Given the description of an element on the screen output the (x, y) to click on. 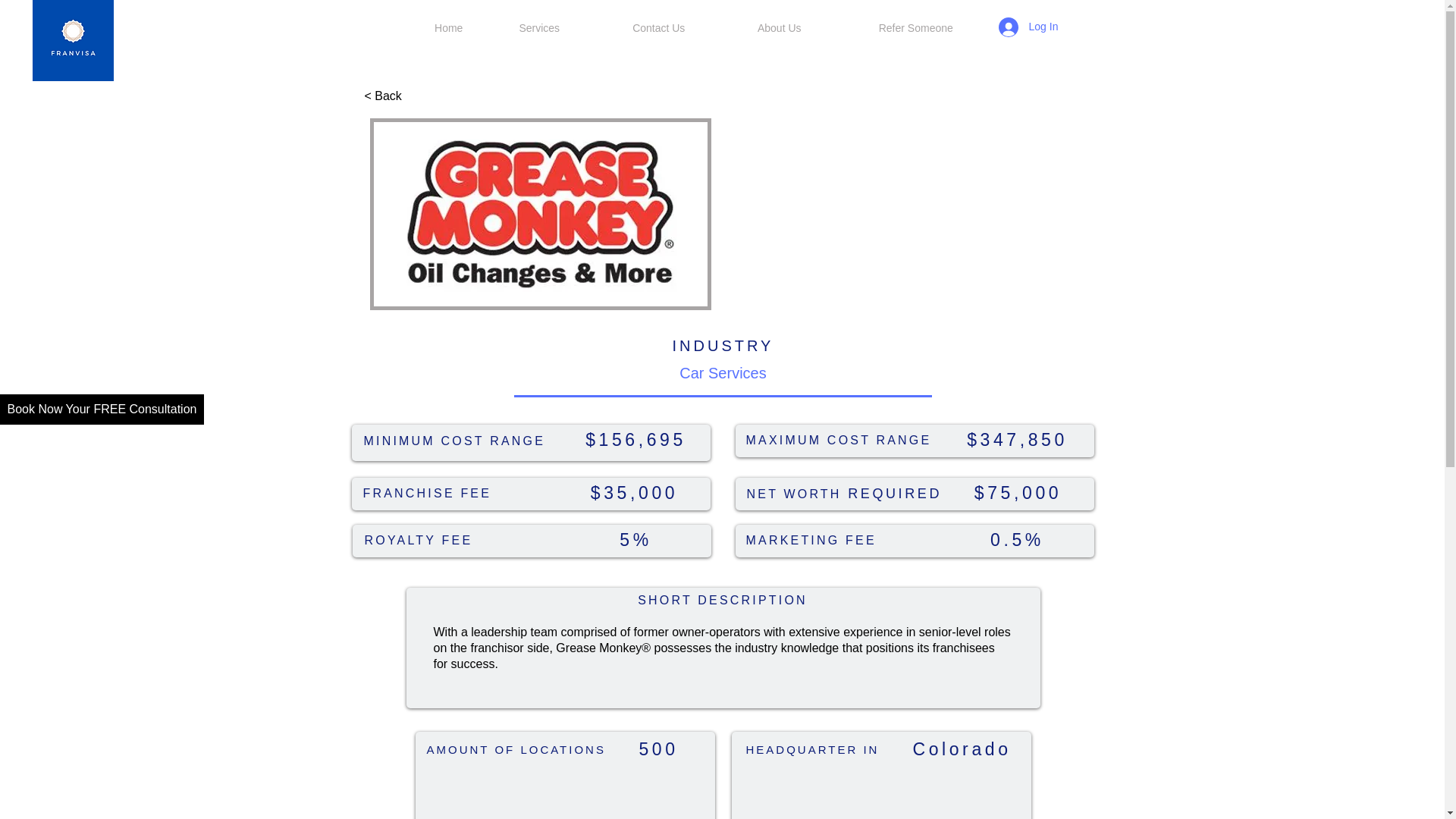
Services (538, 27)
Refer Someone (915, 27)
Contact Us (657, 27)
Home (448, 27)
Book Now Your FREE Consultation (101, 409)
About Us (778, 27)
Log In (1018, 27)
4.png (72, 40)
a39f2000000OpajAAC.jpeg (540, 213)
